Given the description of an element on the screen output the (x, y) to click on. 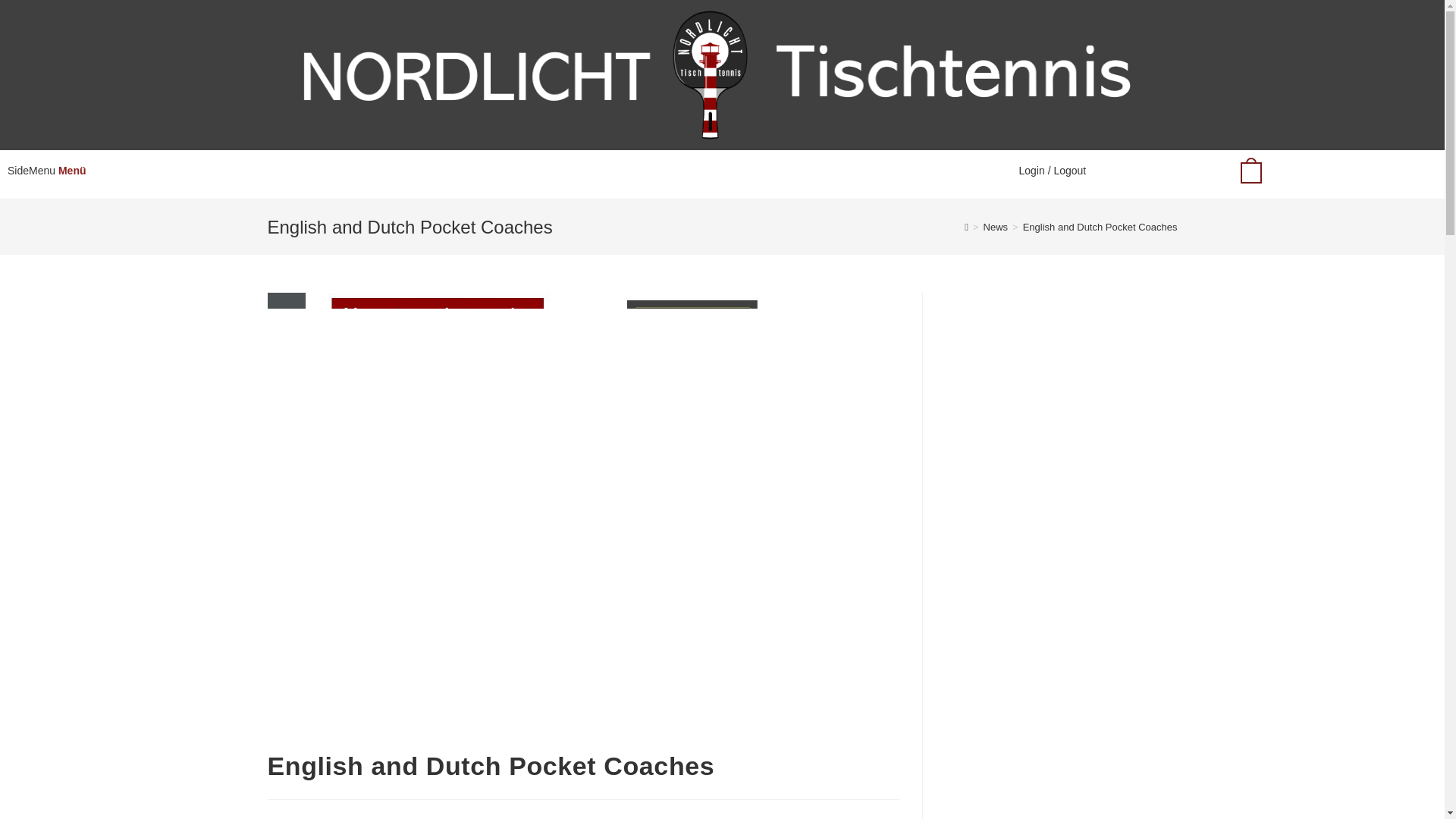
SideMenu (31, 170)
News (996, 226)
English and Dutch Pocket Coaches (1100, 226)
